Given the description of an element on the screen output the (x, y) to click on. 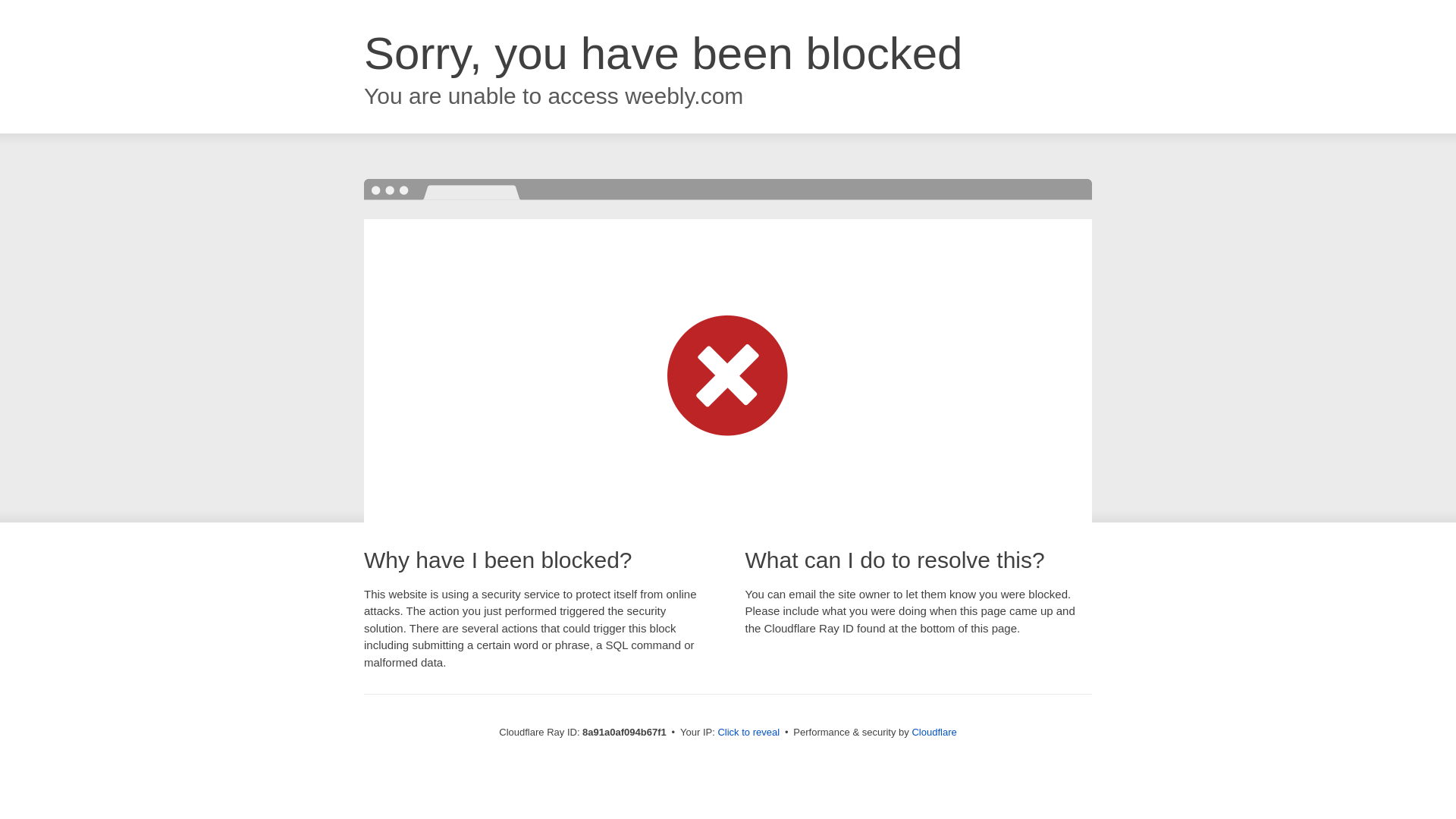
Click to reveal (747, 732)
Cloudflare (933, 731)
